Given the description of an element on the screen output the (x, y) to click on. 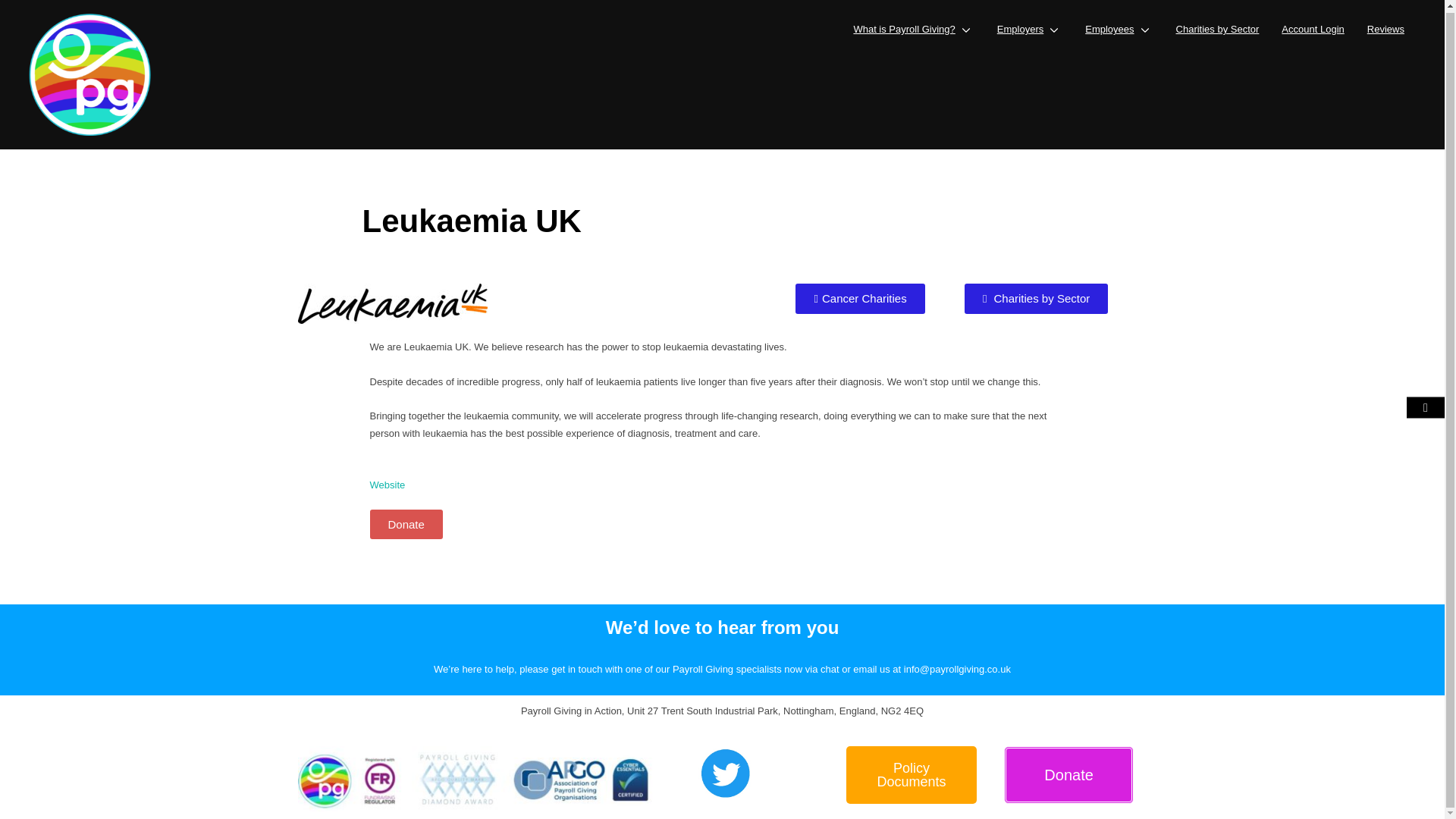
Employees (1118, 27)
Employers (1029, 27)
What is Payroll Giving? (913, 27)
Charities by Sector (1217, 27)
Reviews (1386, 27)
Account Login (1312, 27)
